Given the description of an element on the screen output the (x, y) to click on. 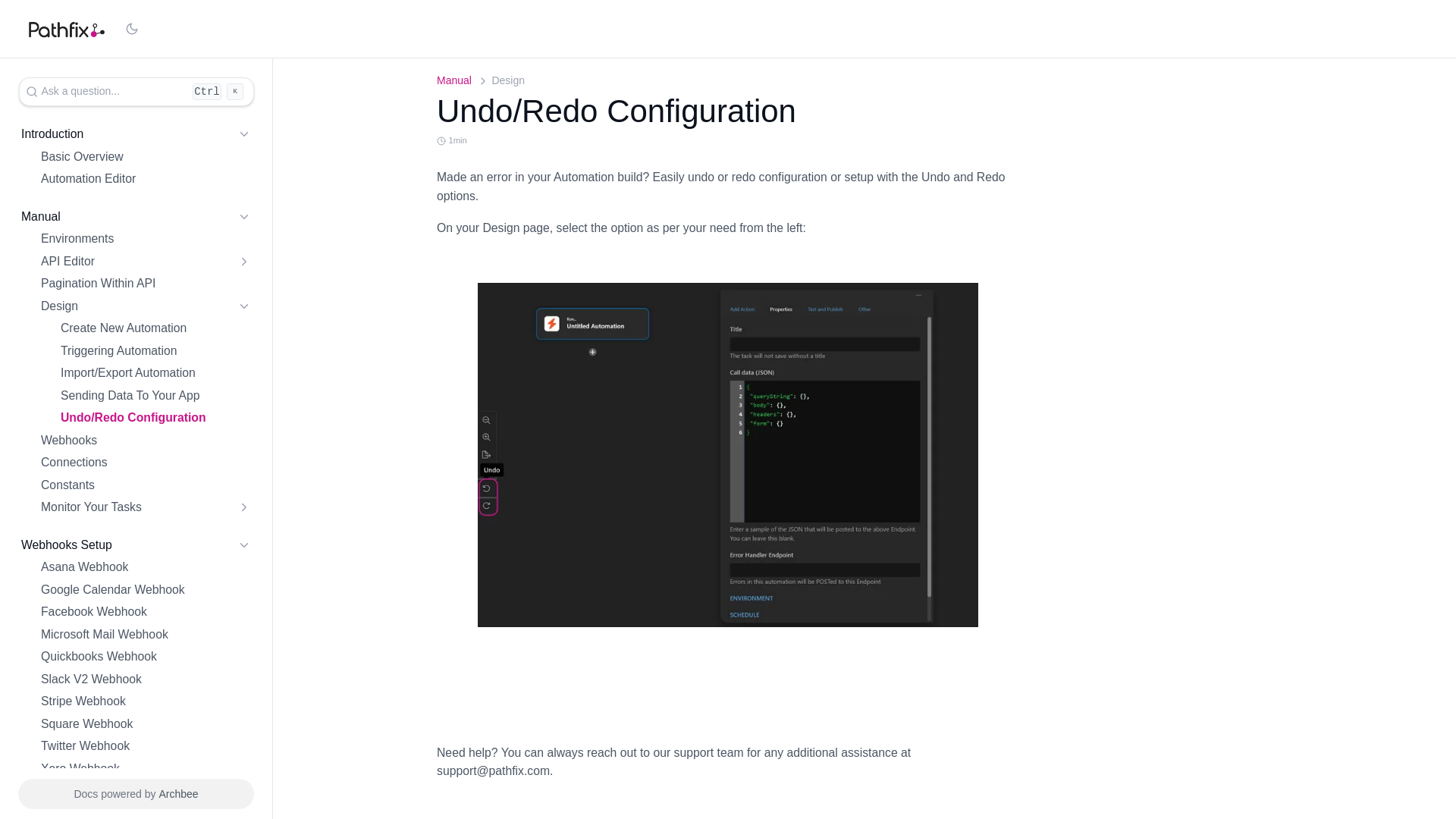
Pagination Within API (145, 283)
Asana Webhook (145, 567)
Introduction (135, 157)
Microsoft Mail Webhook (145, 633)
Xero Webhook (145, 769)
Square Webhook (145, 723)
Environments (76, 239)
Sending Data To Your App (155, 395)
Introduction (51, 134)
Facebook Webhook (145, 611)
Pagination Within API (145, 283)
Basic Overview (81, 156)
API Editor (145, 261)
Environments (145, 239)
Automation Editor (87, 179)
